Given the description of an element on the screen output the (x, y) to click on. 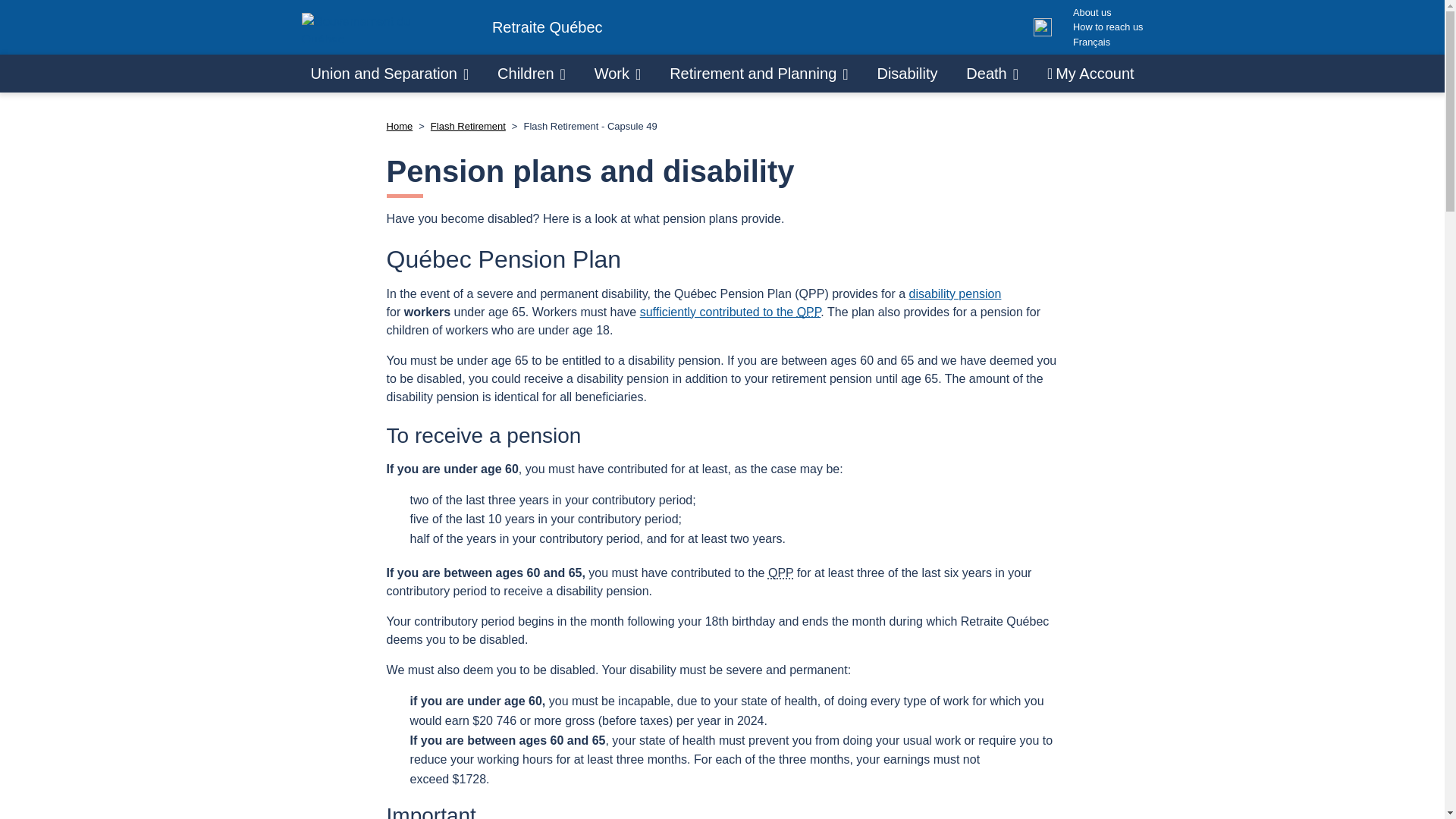
Home (400, 125)
About us (1107, 11)
How to reach us (1107, 26)
Flash Retirement (467, 125)
